Given the description of an element on the screen output the (x, y) to click on. 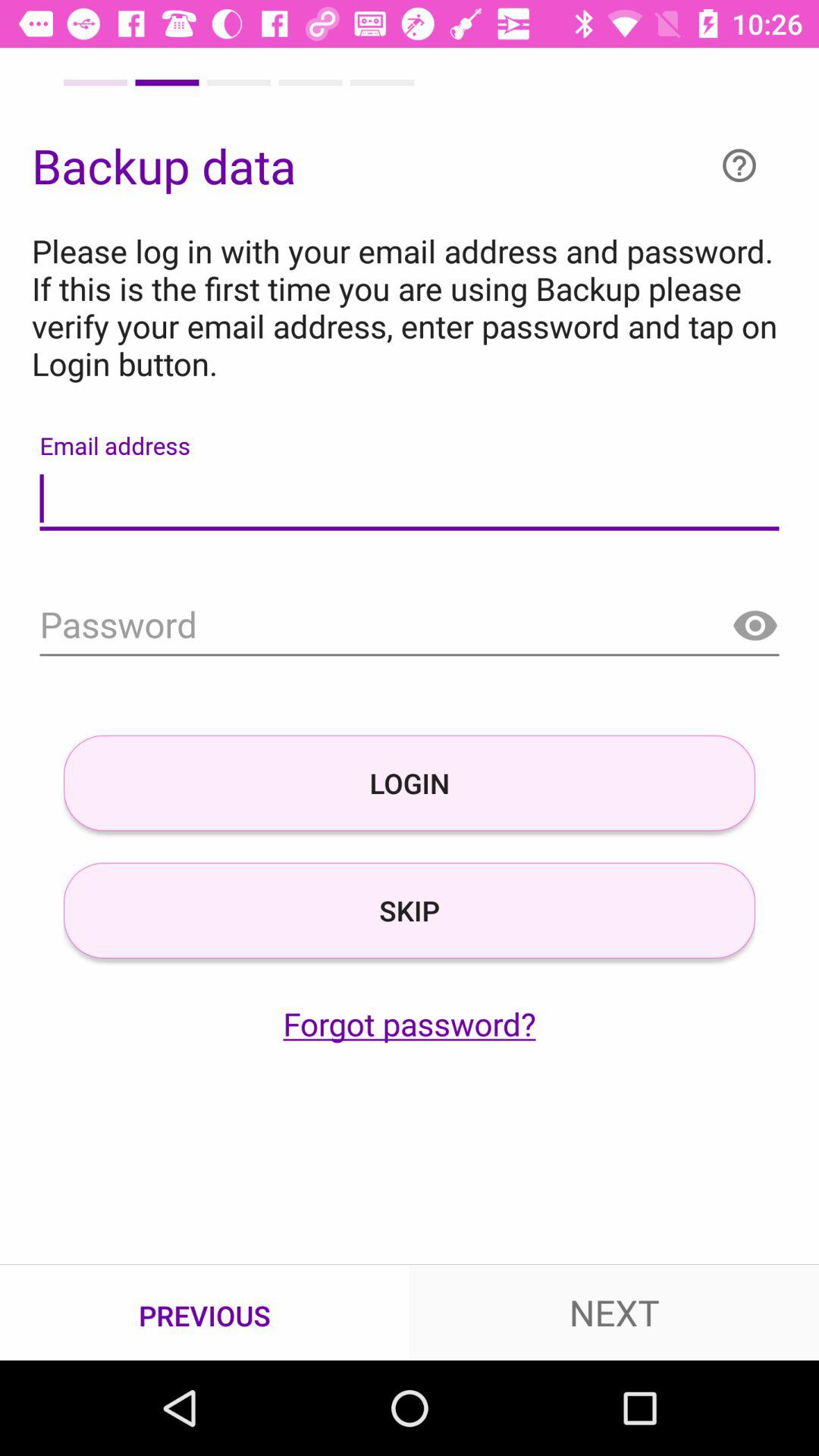
help (739, 165)
